Given the description of an element on the screen output the (x, y) to click on. 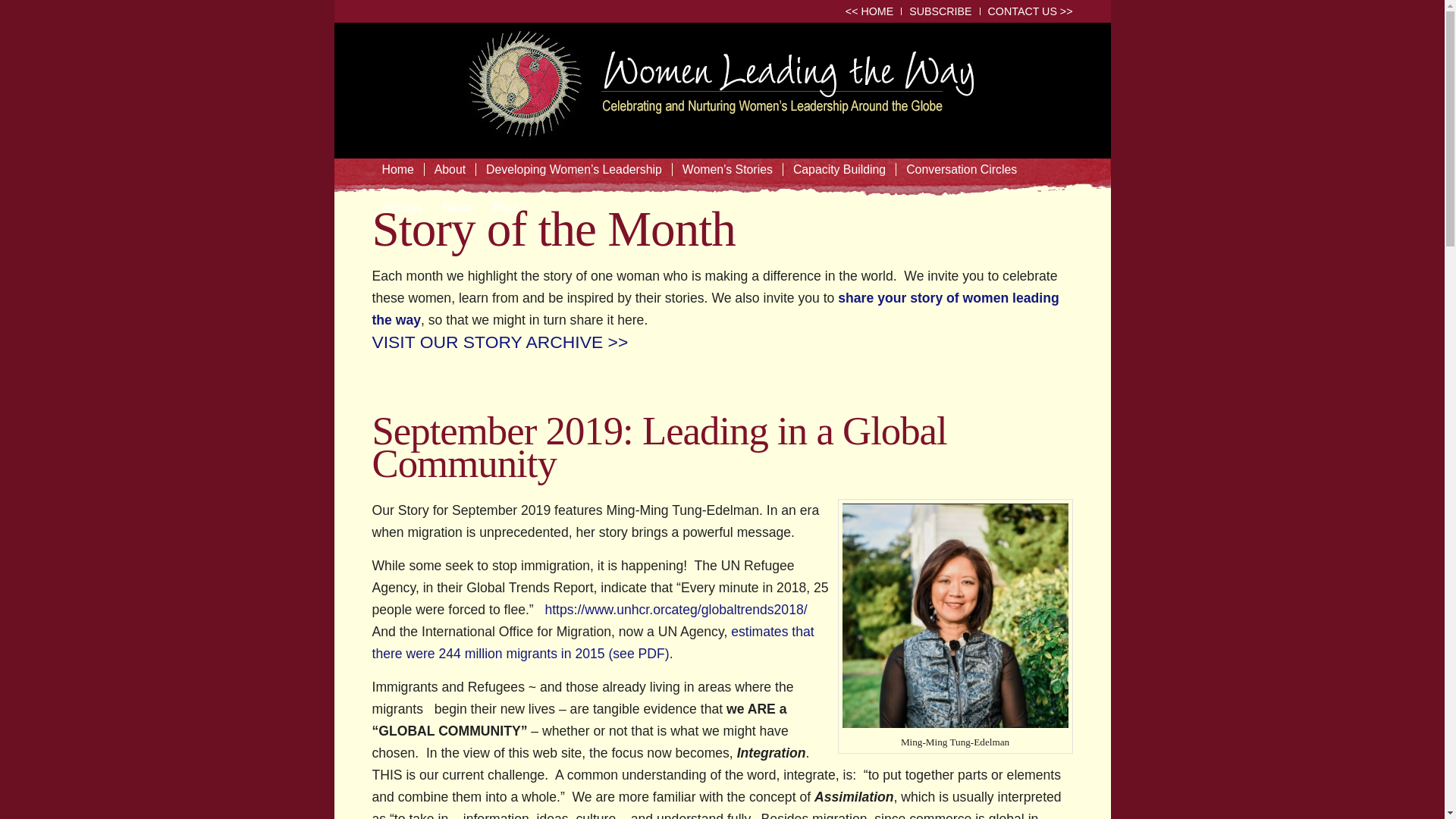
About (449, 177)
News (455, 215)
Articles (400, 215)
Home (397, 177)
Blog (504, 215)
